Given the description of an element on the screen output the (x, y) to click on. 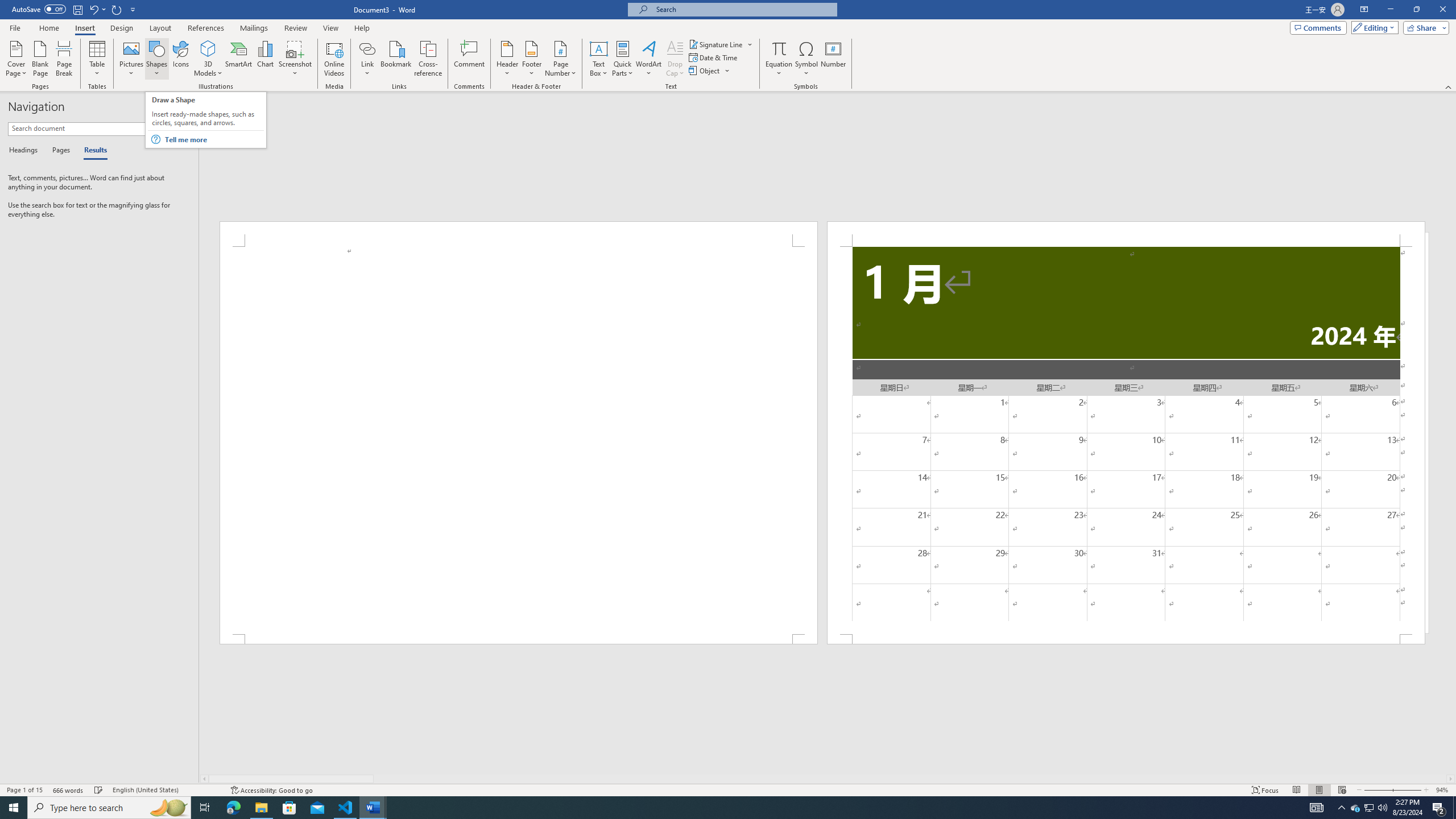
3D Models (208, 48)
Link (367, 48)
Online Videos... (333, 58)
